Given the description of an element on the screen output the (x, y) to click on. 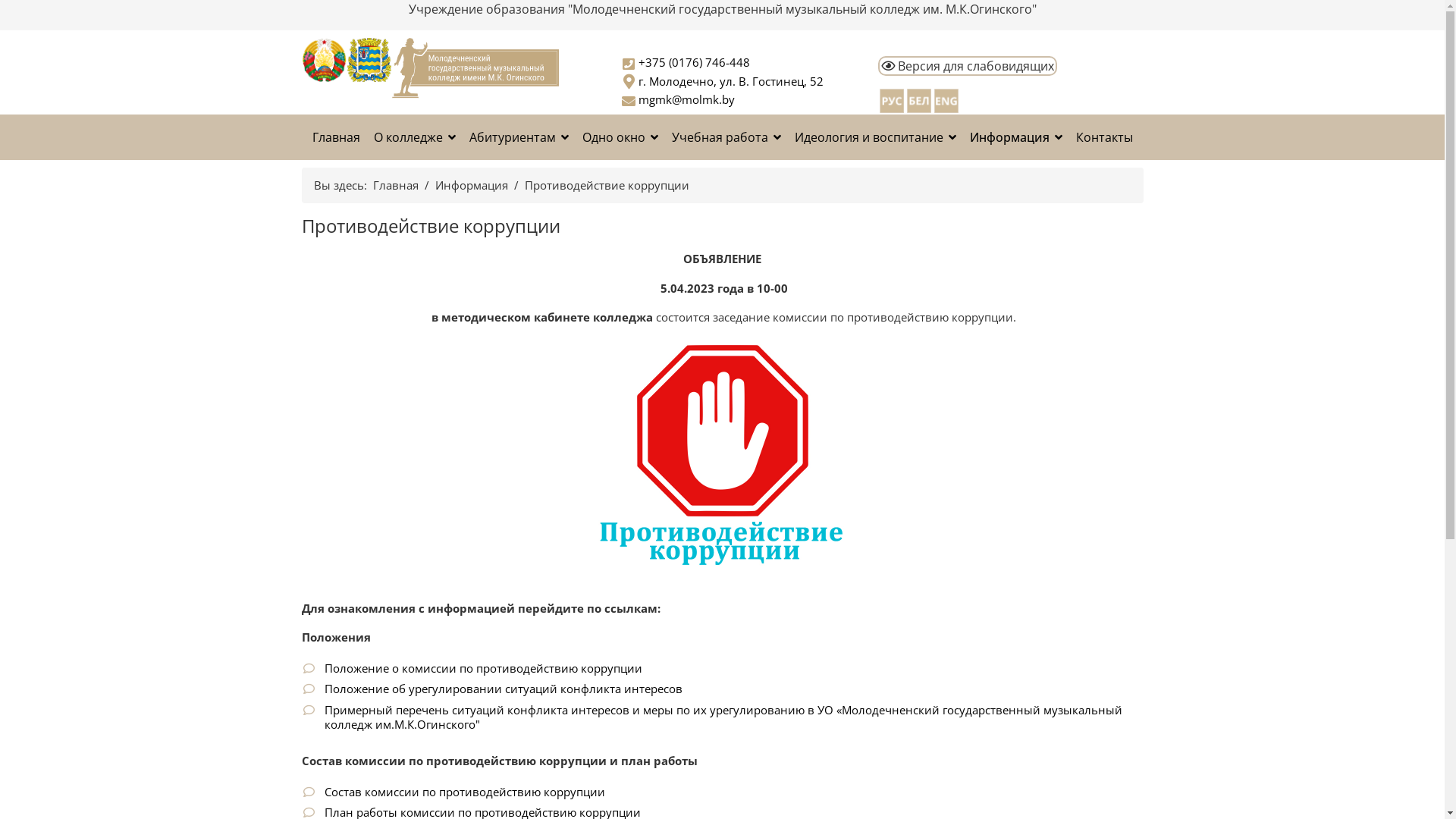
+375 (0176) 746-448 Element type: text (693, 61)
English Element type: hover (946, 98)
Russian Element type: hover (891, 98)
mgmk@molmk.by Element type: text (686, 98)
Belarusian Element type: hover (918, 98)
